Given the description of an element on the screen output the (x, y) to click on. 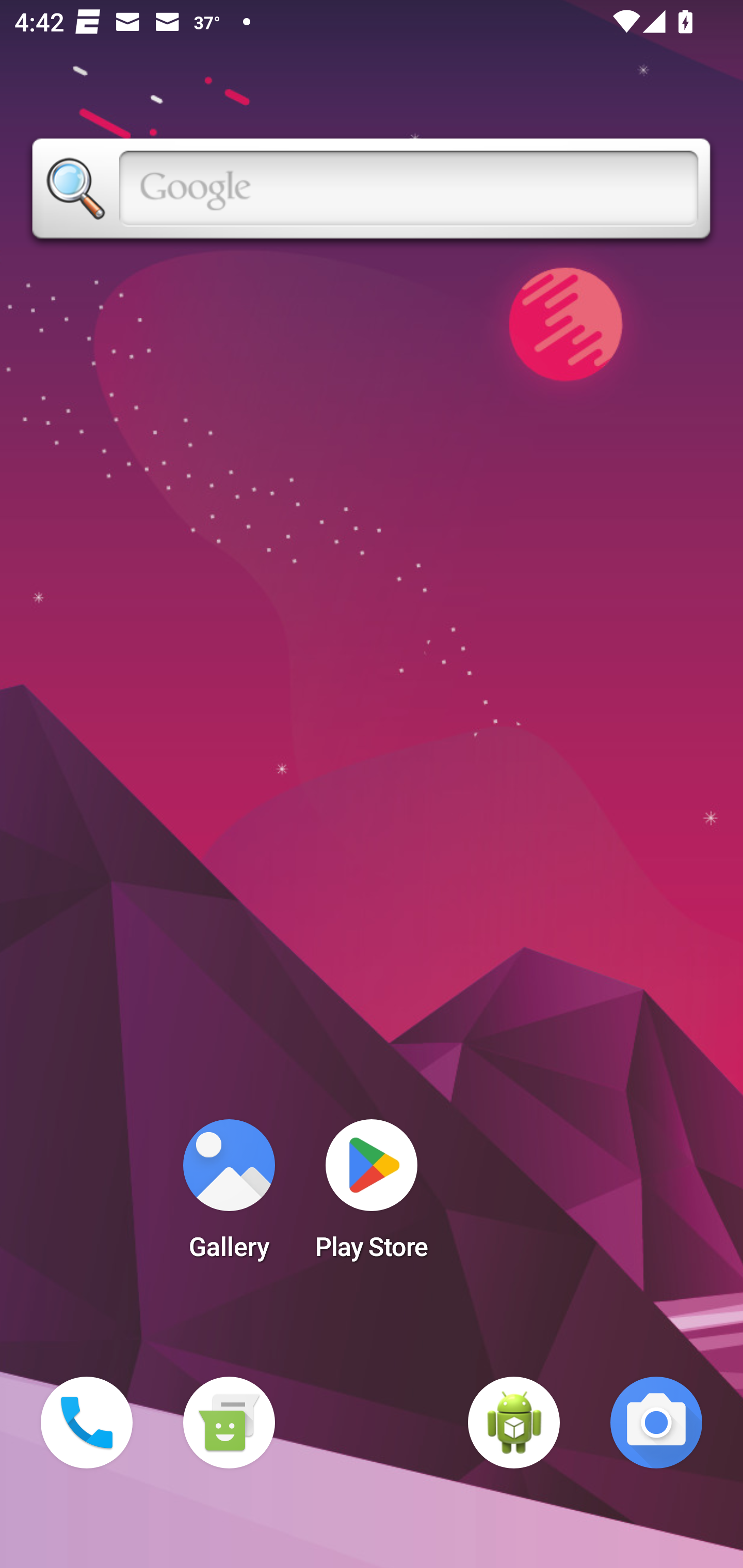
Gallery (228, 1195)
Play Store (371, 1195)
Phone (86, 1422)
Messaging (228, 1422)
WebView Browser Tester (513, 1422)
Camera (656, 1422)
